Given the description of an element on the screen output the (x, y) to click on. 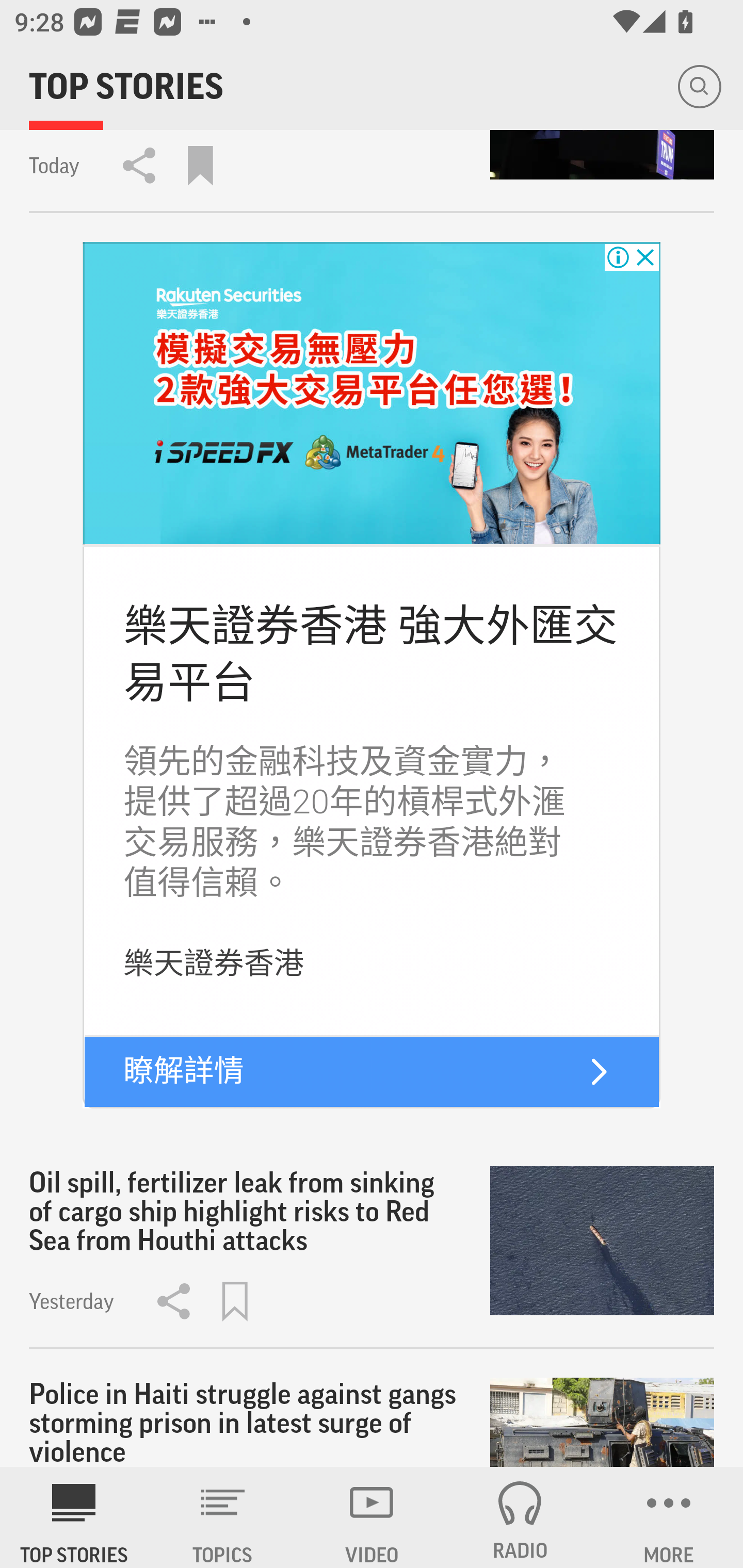
樂天證券香港 強大外匯交 易平台 樂天證券香港 強大外匯交 易平台 (370, 653)
樂天證券香港 (213, 963)
瞭解詳情 (183, 1070)
AP News TOP STORIES (74, 1517)
TOPICS (222, 1517)
VIDEO (371, 1517)
RADIO (519, 1517)
MORE (668, 1517)
